Given the description of an element on the screen output the (x, y) to click on. 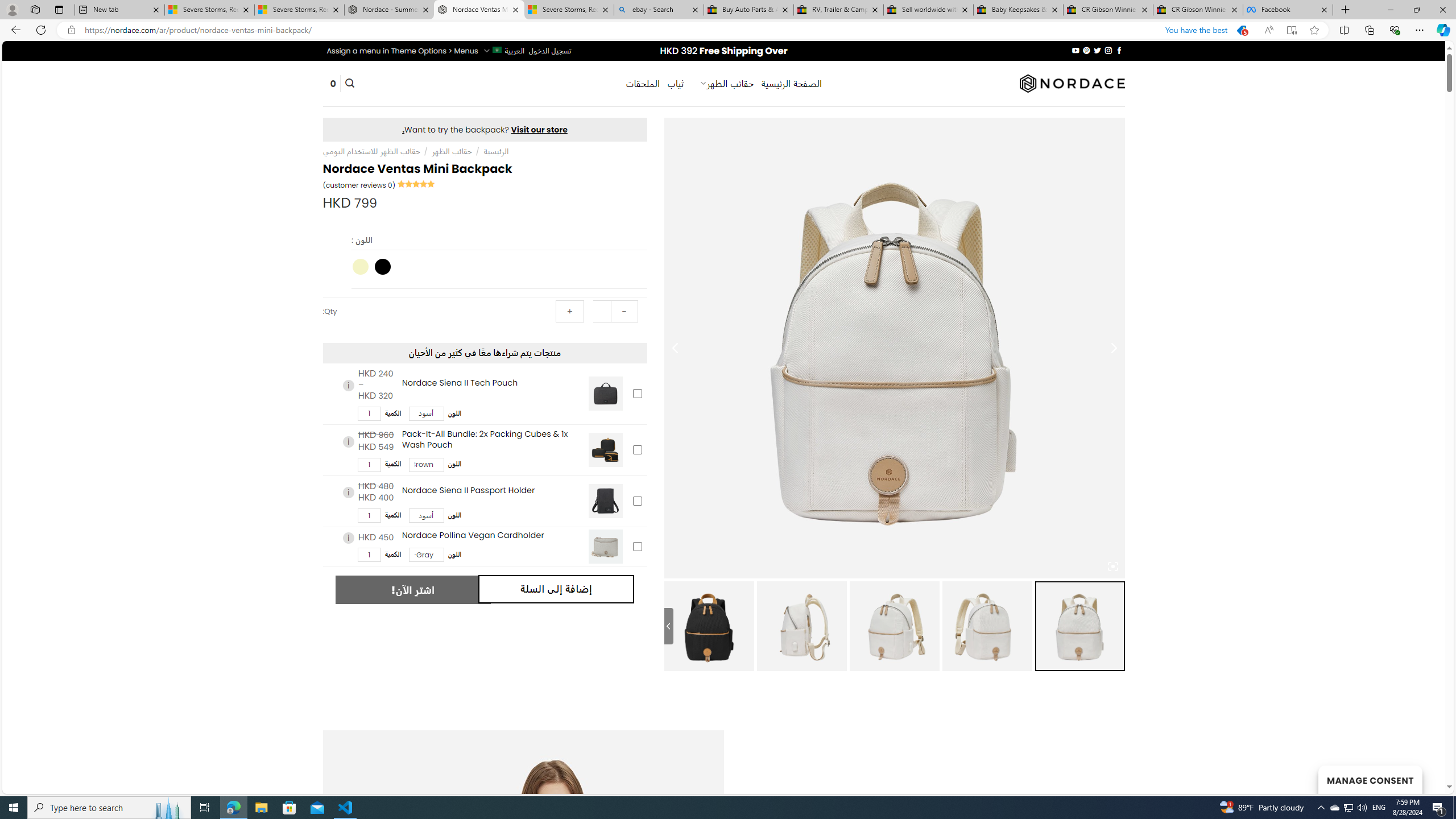
- (623, 311)
Nordace Pollina Vegan Cardholder (605, 546)
+ (569, 311)
Pack-It-All Bundle: 2x Packing Cubes & 1x Wash Pouch (605, 449)
